Given the description of an element on the screen output the (x, y) to click on. 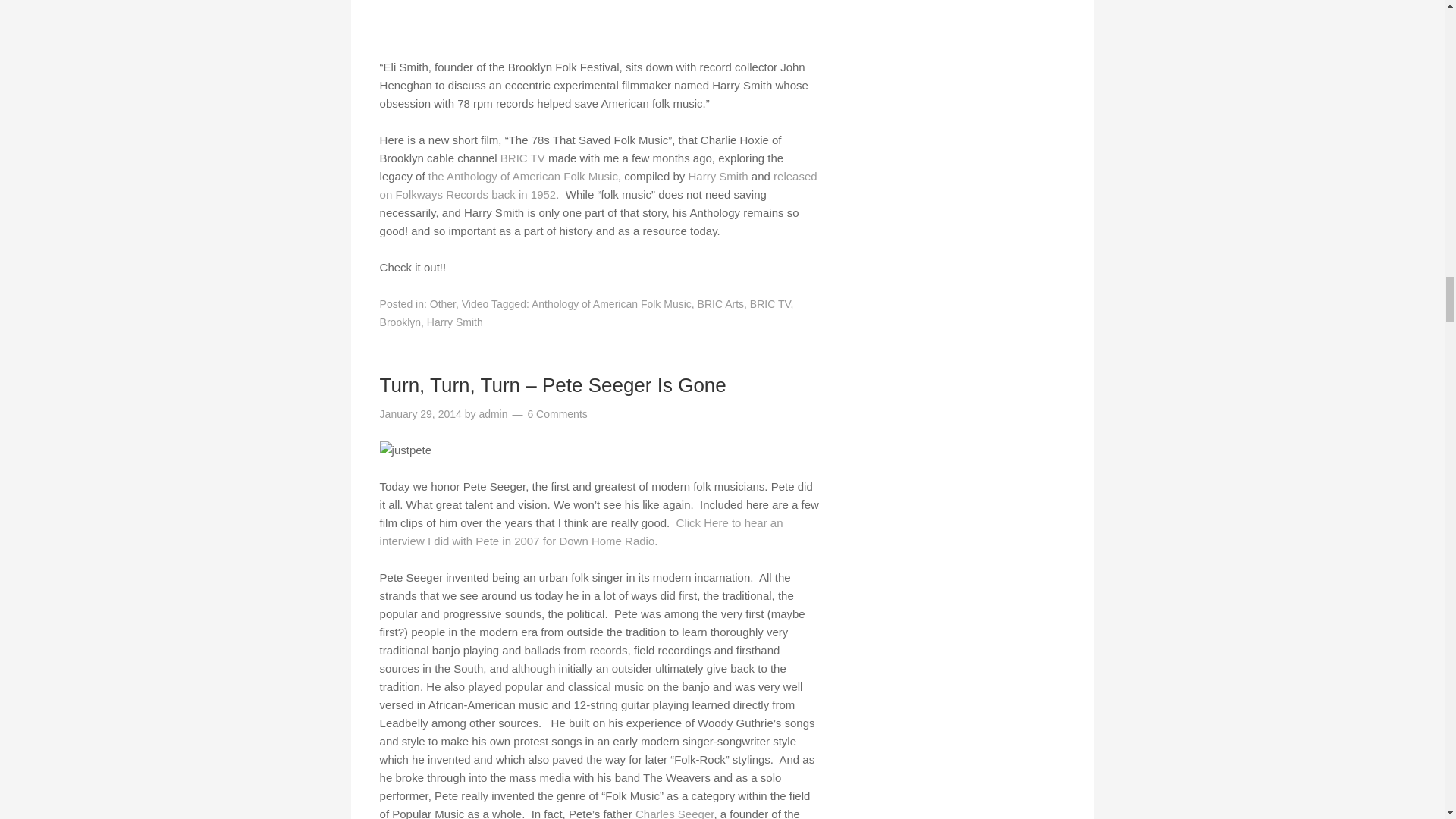
Video (475, 304)
BRIC TV (522, 157)
BRIC TV (769, 304)
admin (492, 413)
the Anthology of American Folk Music (522, 175)
Brooklyn (400, 322)
BRIC Arts (720, 304)
Harry Smith (717, 175)
released on Folkways Records back in 1952. (598, 184)
Harry Smith (717, 175)
